Given the description of an element on the screen output the (x, y) to click on. 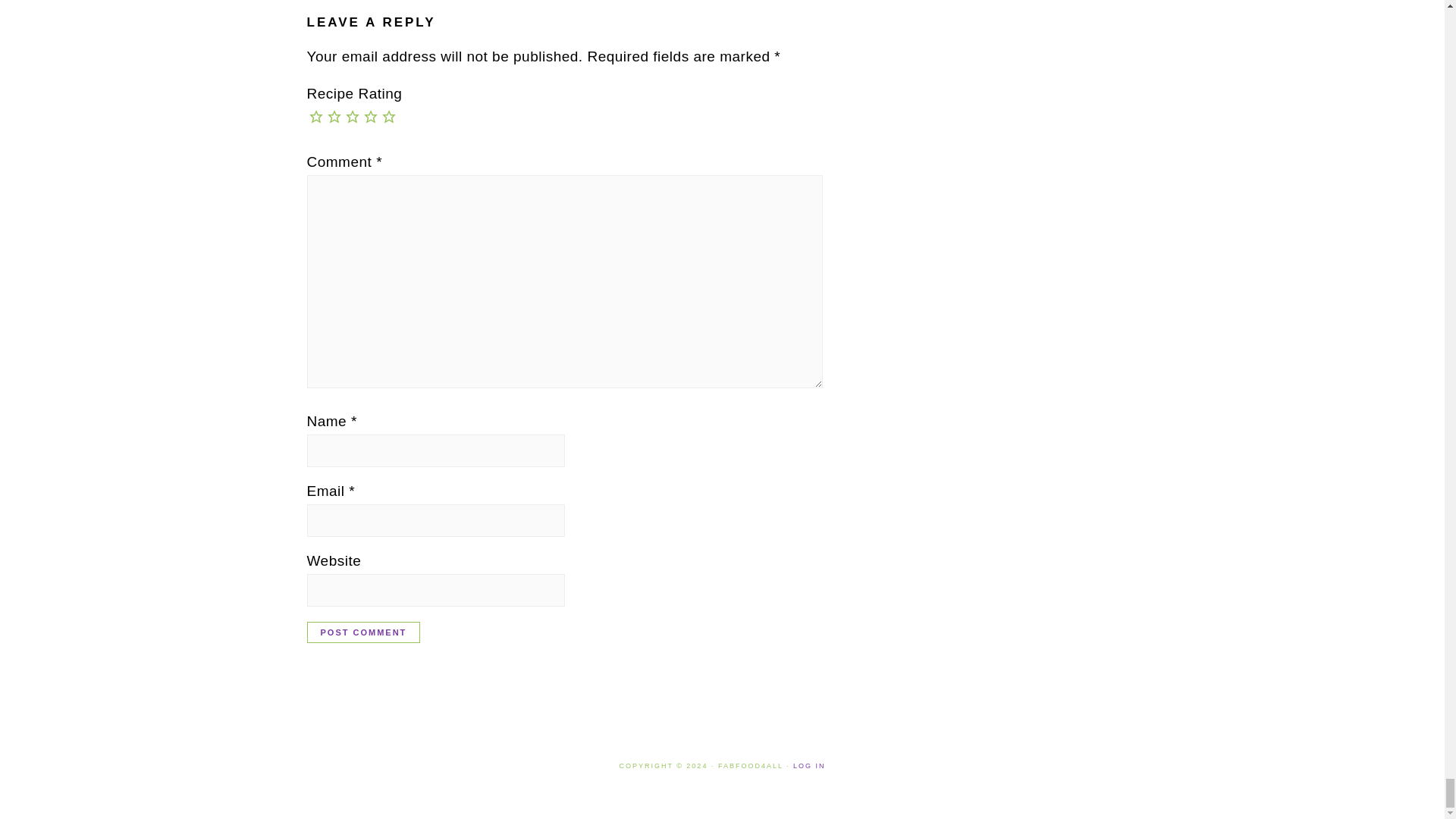
Post Comment (362, 631)
